Given the description of an element on the screen output the (x, y) to click on. 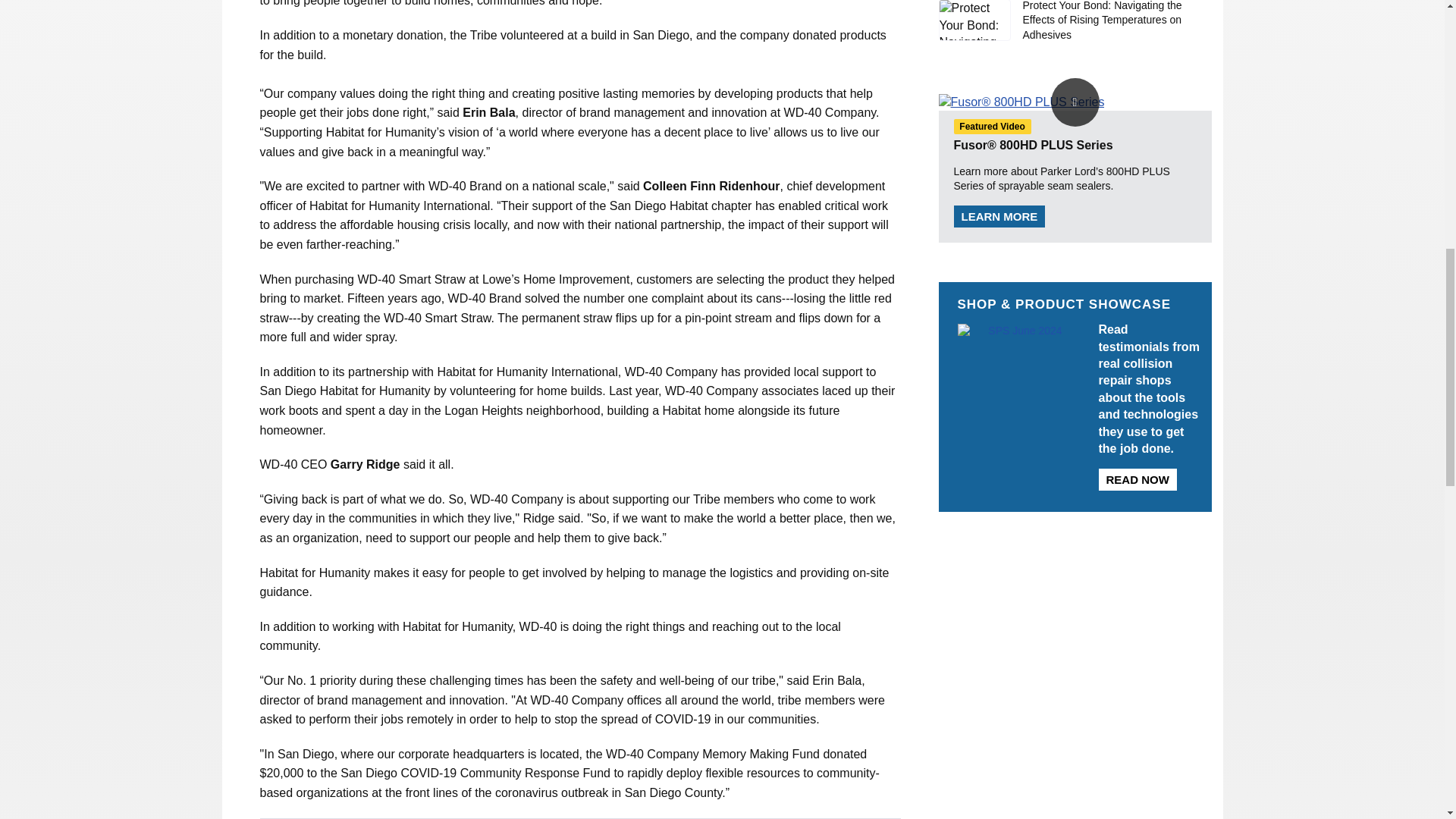
Watch Now (1075, 101)
